Given the description of an element on the screen output the (x, y) to click on. 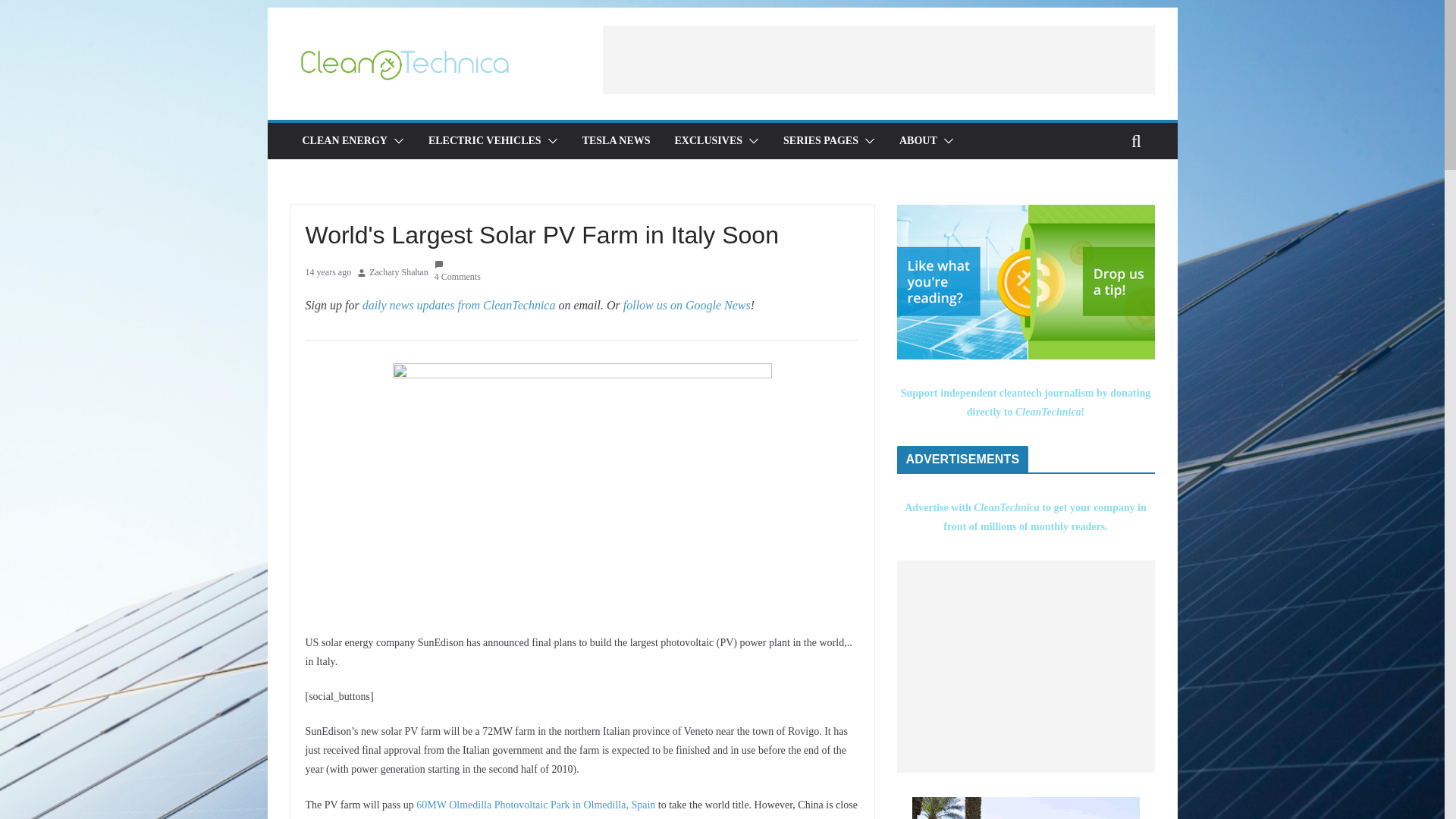
Advertisement (878, 59)
Advertisement (1025, 666)
Zachary Shahan (398, 272)
EXCLUSIVES (708, 140)
SERIES PAGES (821, 140)
TESLA NEWS (616, 140)
ELECTRIC VEHICLES (484, 140)
CLEAN ENERGY (344, 140)
